Given the description of an element on the screen output the (x, y) to click on. 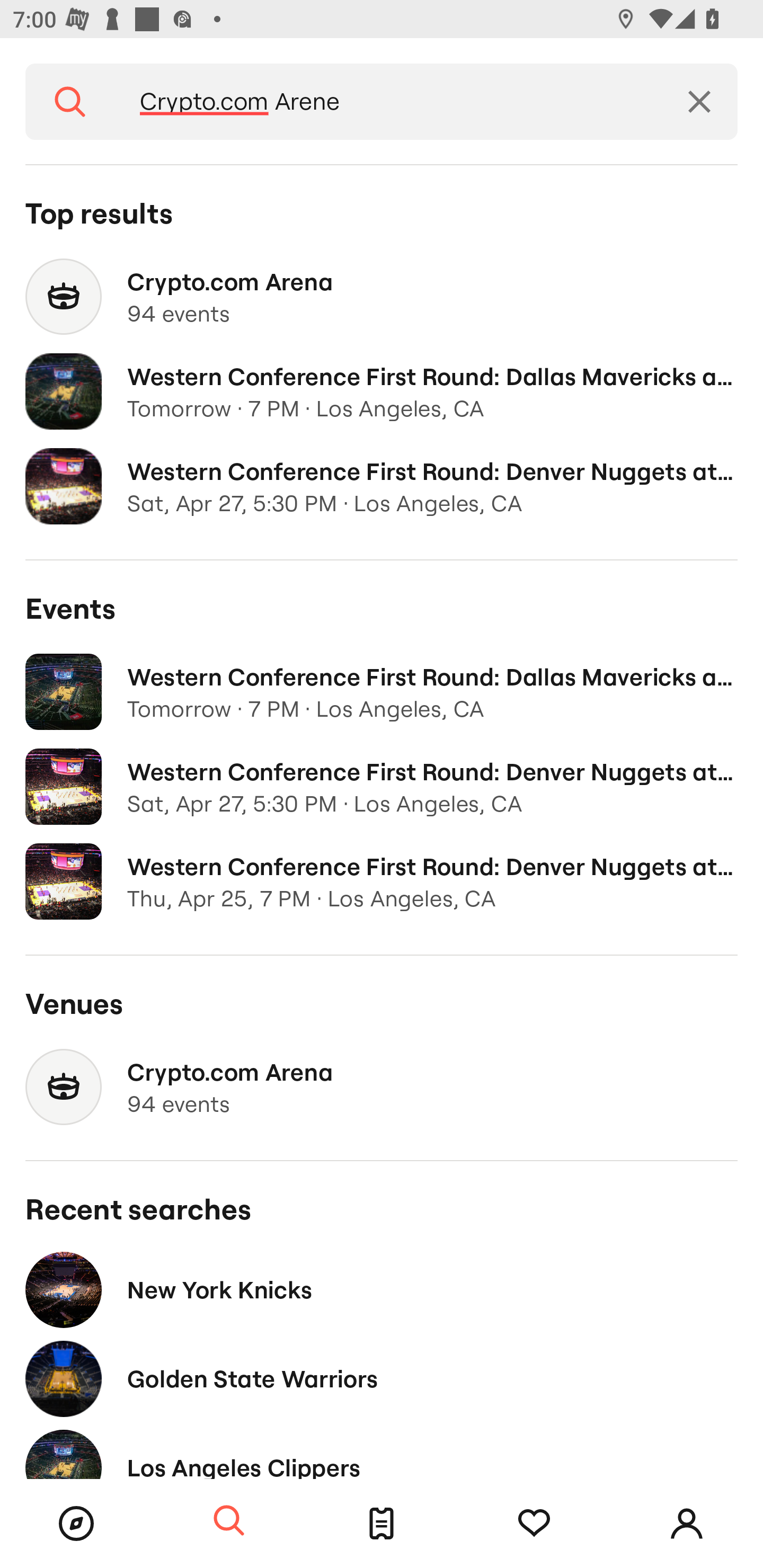
Search (69, 101)
Crypto.com Arene (387, 101)
Clear (699, 101)
Crypto.com Arena 94 events (381, 296)
Crypto.com Arena 94 events (381, 1087)
New York Knicks (381, 1289)
Golden State Warriors (381, 1378)
Los Angeles Clippers (381, 1450)
Browse (76, 1523)
Search (228, 1521)
Tickets (381, 1523)
Tracking (533, 1523)
Account (686, 1523)
